Given the description of an element on the screen output the (x, y) to click on. 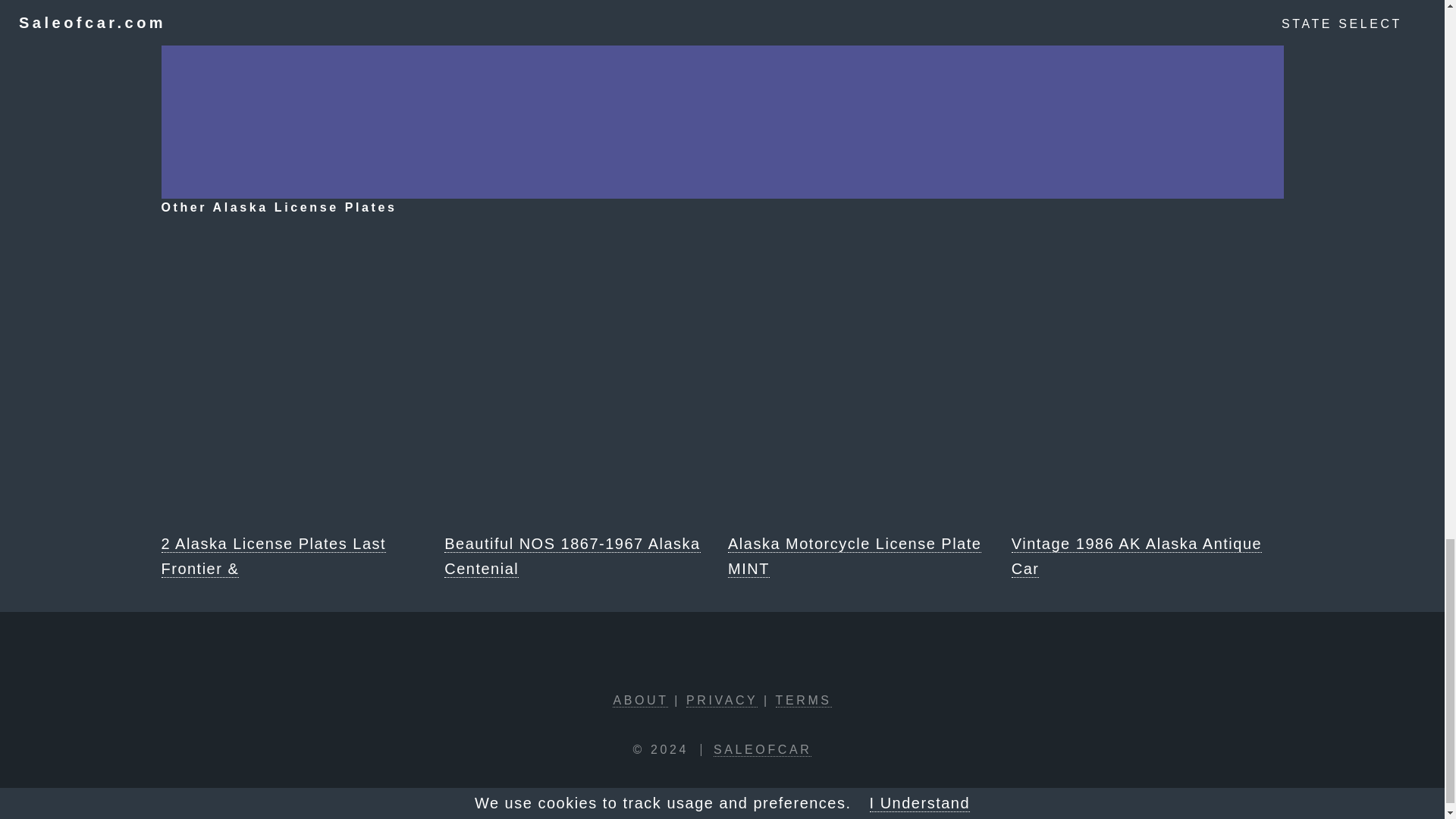
SALEOFCAR (761, 749)
ABOUT (640, 700)
PRIVACY (721, 700)
TERMS (803, 700)
